Given the description of an element on the screen output the (x, y) to click on. 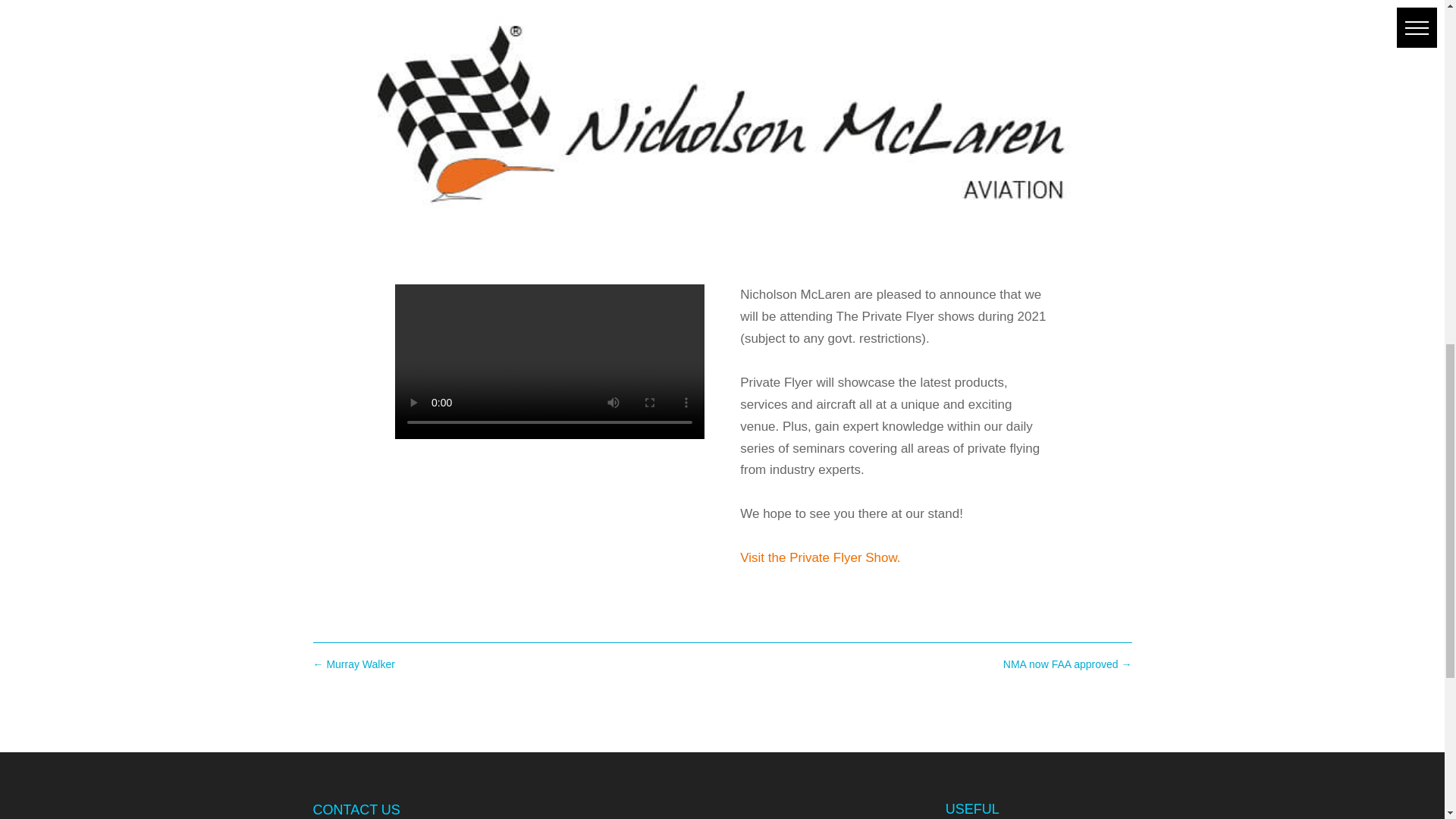
Visit the Private Flyer Show. (819, 557)
